Given the description of an element on the screen output the (x, y) to click on. 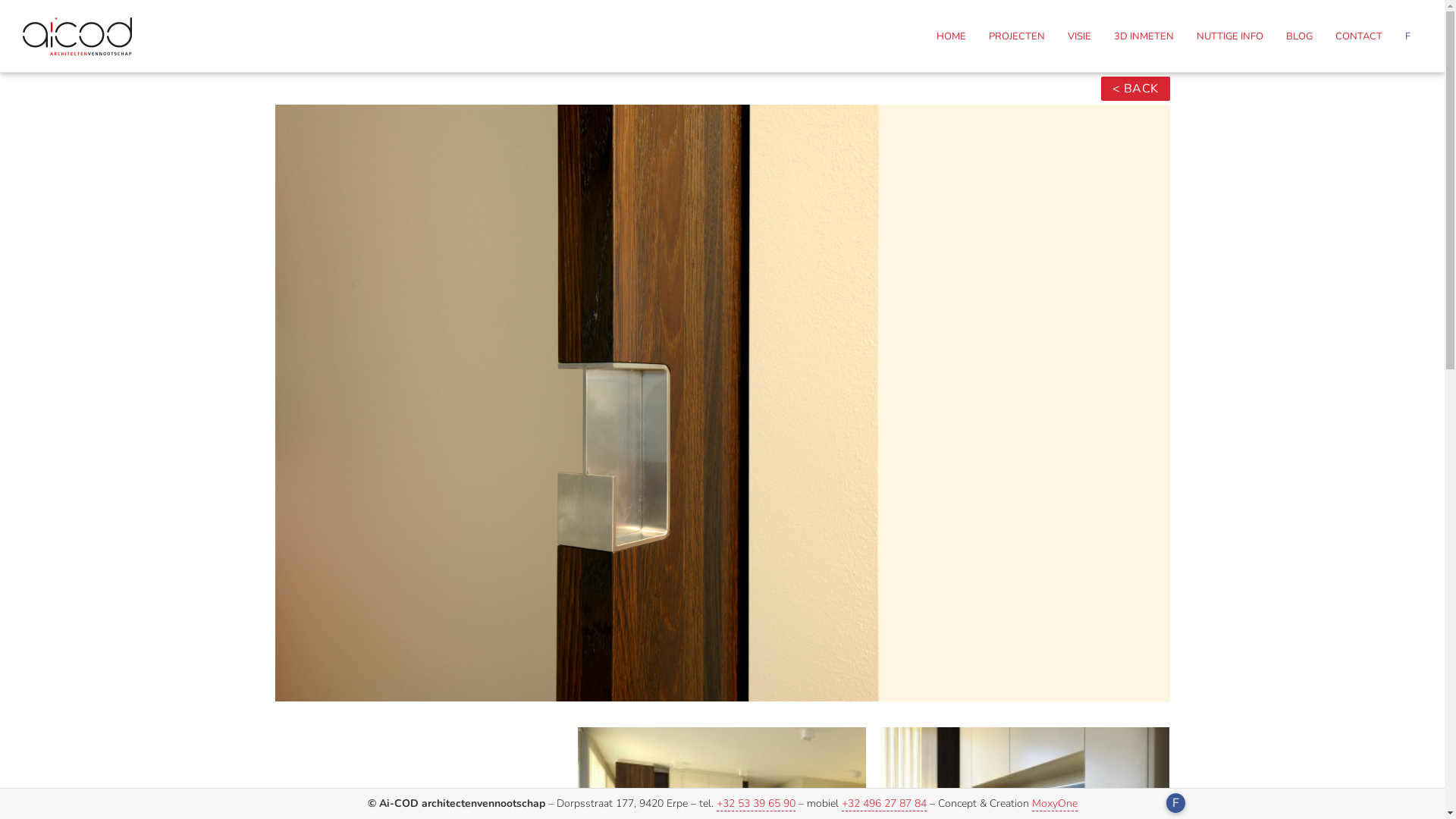
VISIE Element type: text (1079, 36)
F Element type: text (1175, 802)
< BACK Element type: text (1135, 88)
NUTTIGE INFO Element type: text (1229, 36)
HOME Element type: text (951, 36)
+32 496 27 87 84 Element type: text (883, 803)
PROJECTEN Element type: text (1016, 36)
3D INMETEN Element type: text (1143, 36)
MoxyOne Element type: text (1053, 803)
+32 53 39 65 90 Element type: text (754, 803)
F Element type: text (1407, 36)
BLOG Element type: text (1299, 36)
CONTACT Element type: text (1358, 36)
